Given the description of an element on the screen output the (x, y) to click on. 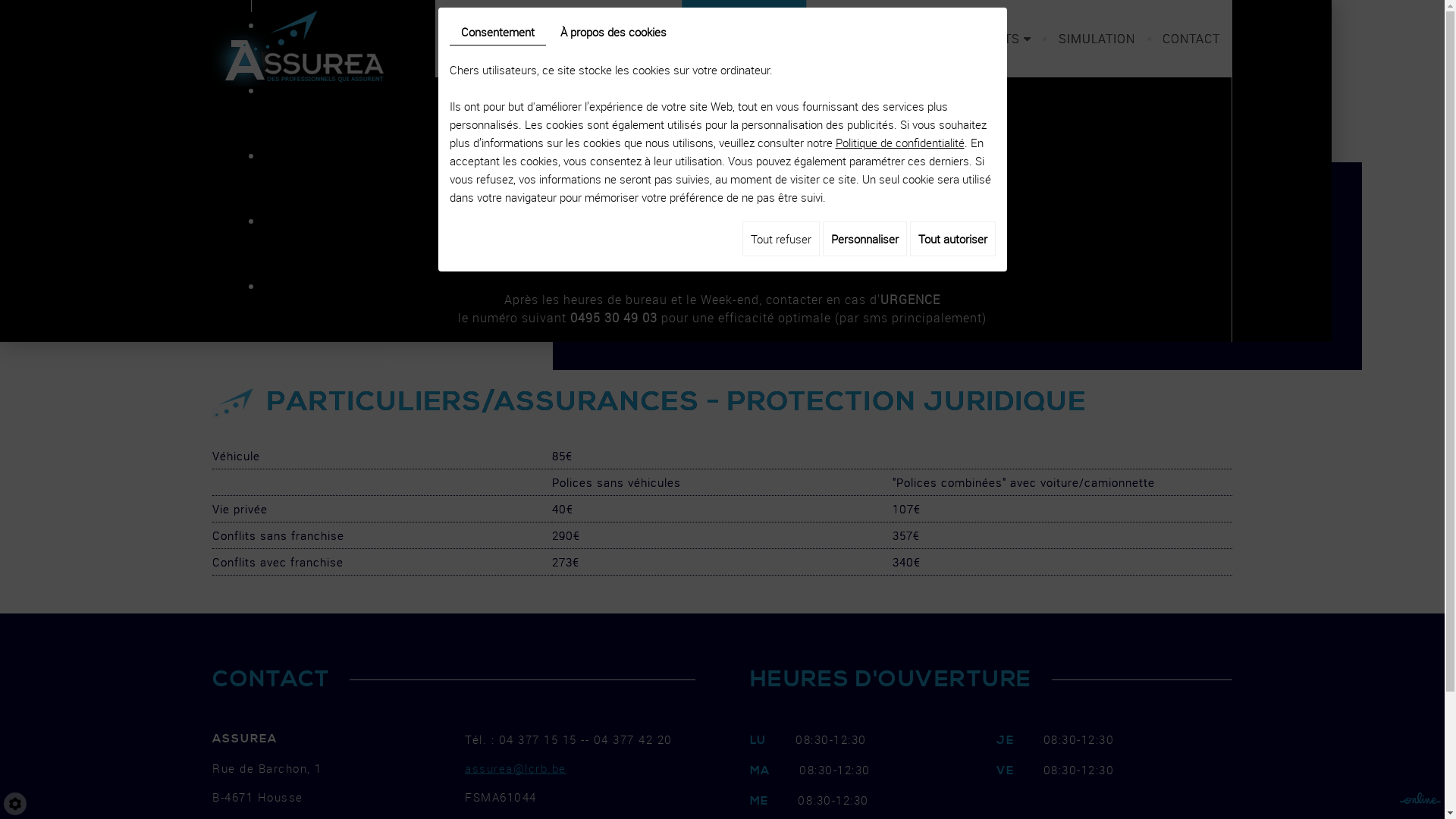
04 377 15 15 Element type: text (723, 205)
assurea@lcrb.be Element type: text (515, 767)
04 377 42 20 Element type: text (741, 240)
PARTICULIERS Element type: text (744, 38)
CONTACT Element type: text (1191, 38)
Personnaliser Element type: text (864, 238)
Tout refuser Element type: text (780, 238)
SIMULATION Element type: text (1096, 38)
ENTREPRISES Element type: text (616, 38)
INFORMATIONS ET DOCUMENTS Element type: text (925, 38)
Tout autoriser Element type: text (952, 238)
Consentement Element type: text (496, 31)
